Given the description of an element on the screen output the (x, y) to click on. 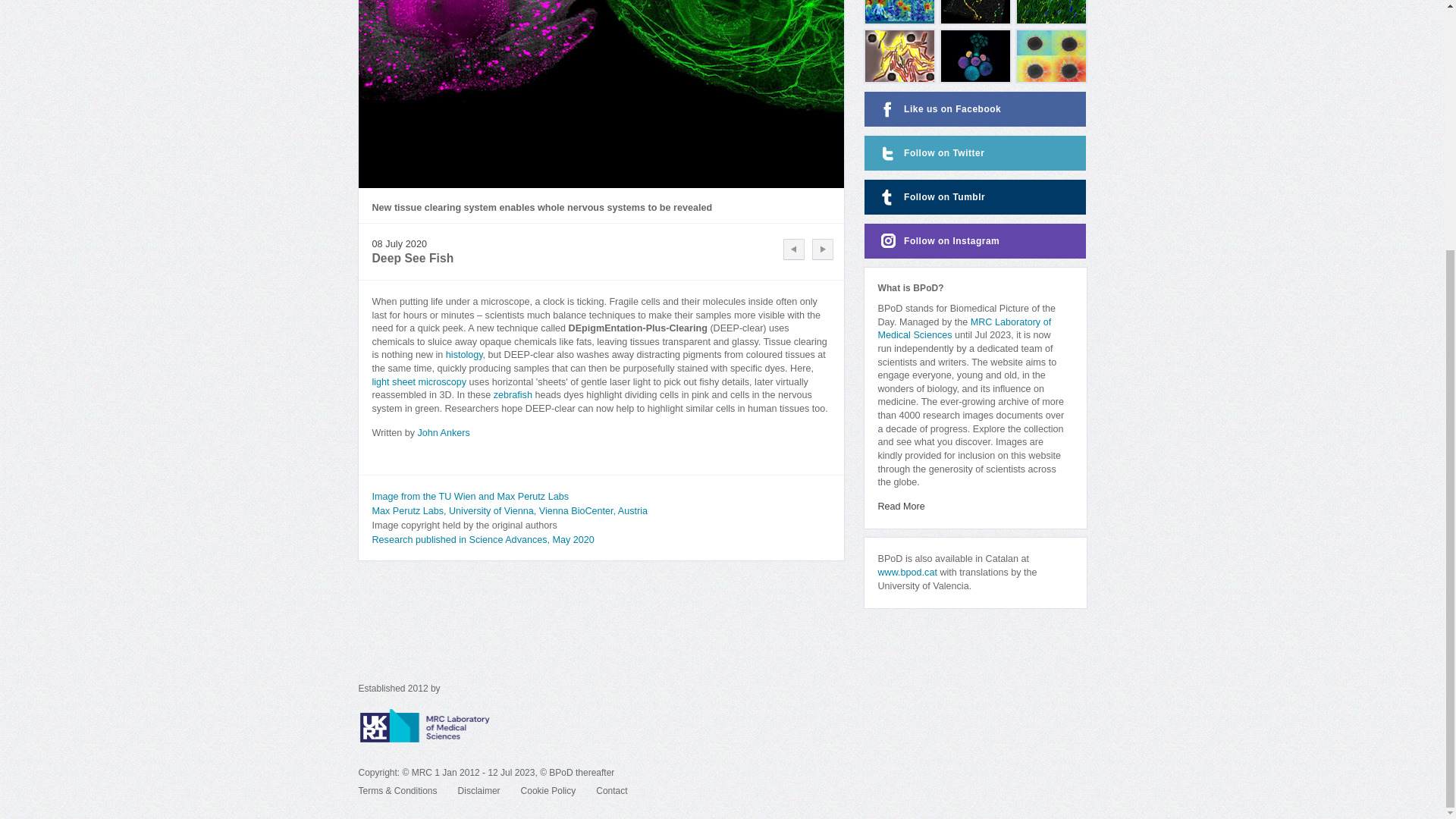
light sheet microscopy (418, 381)
Image from the TU Wien and Max Perutz Labs (469, 496)
Read More (900, 506)
Follow BPoD on Facebook (975, 108)
MRC Laboratory of Medical Sciences (964, 328)
Follow on Instagram (975, 240)
histology (464, 354)
Research published in Science Advances, May 2020 (482, 539)
zebrafish (512, 394)
Follow on Tumblr (975, 196)
Like us on Facebook (975, 108)
John Ankers (442, 432)
About this author (442, 432)
Follow on Twitter (975, 152)
